Given the description of an element on the screen output the (x, y) to click on. 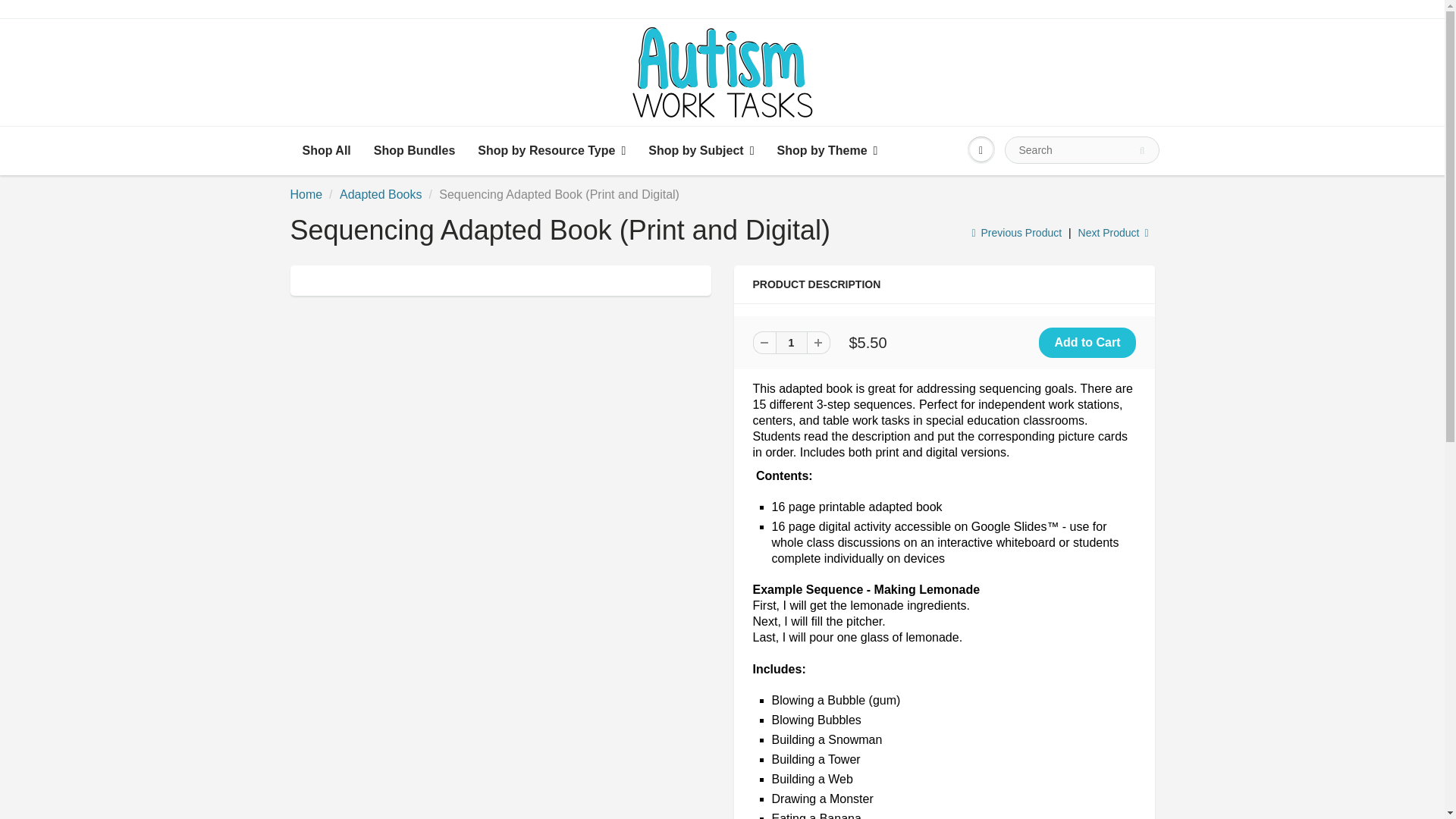
Home (305, 194)
Shop by Theme (826, 150)
Next Product (1114, 232)
Shop Bundles (414, 150)
Shop by Resource Type (551, 150)
Home (305, 194)
Add to Cart (1087, 342)
Shop by Subject (701, 150)
1 (790, 342)
Previous Product (1015, 232)
Adapted Books (380, 194)
Shop All (326, 150)
